Given the description of an element on the screen output the (x, y) to click on. 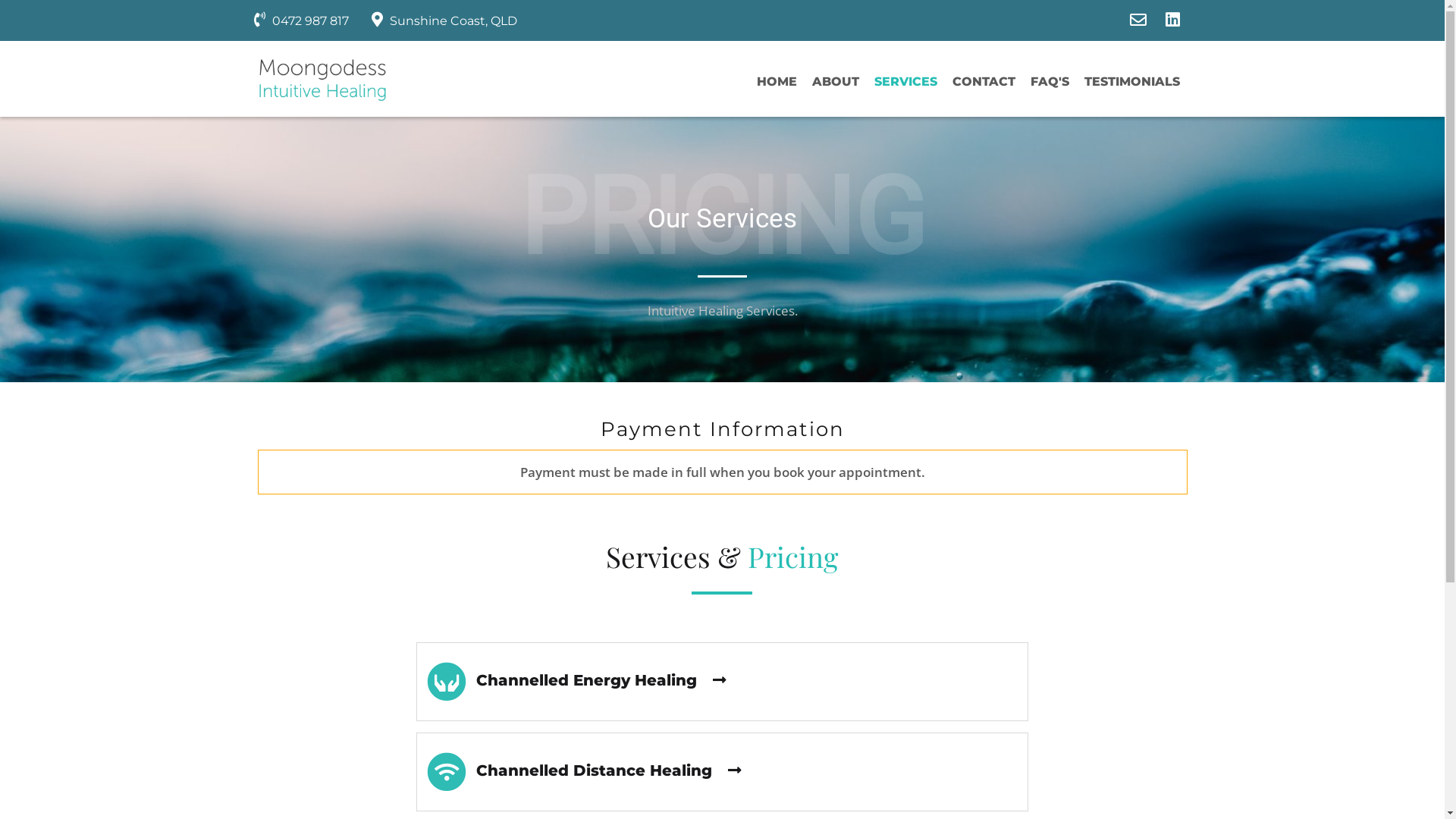
CONTACT Element type: text (983, 84)
ABOUT Element type: text (834, 84)
SERVICES Element type: text (905, 84)
Channelled Energy Healing Element type: text (722, 681)
TESTIMONIALS Element type: text (1131, 84)
0472 987 817 Element type: text (300, 21)
HOME Element type: text (776, 84)
Channelled Distance Healing Element type: text (722, 771)
FAQ'S Element type: text (1049, 84)
